Given the description of an element on the screen output the (x, y) to click on. 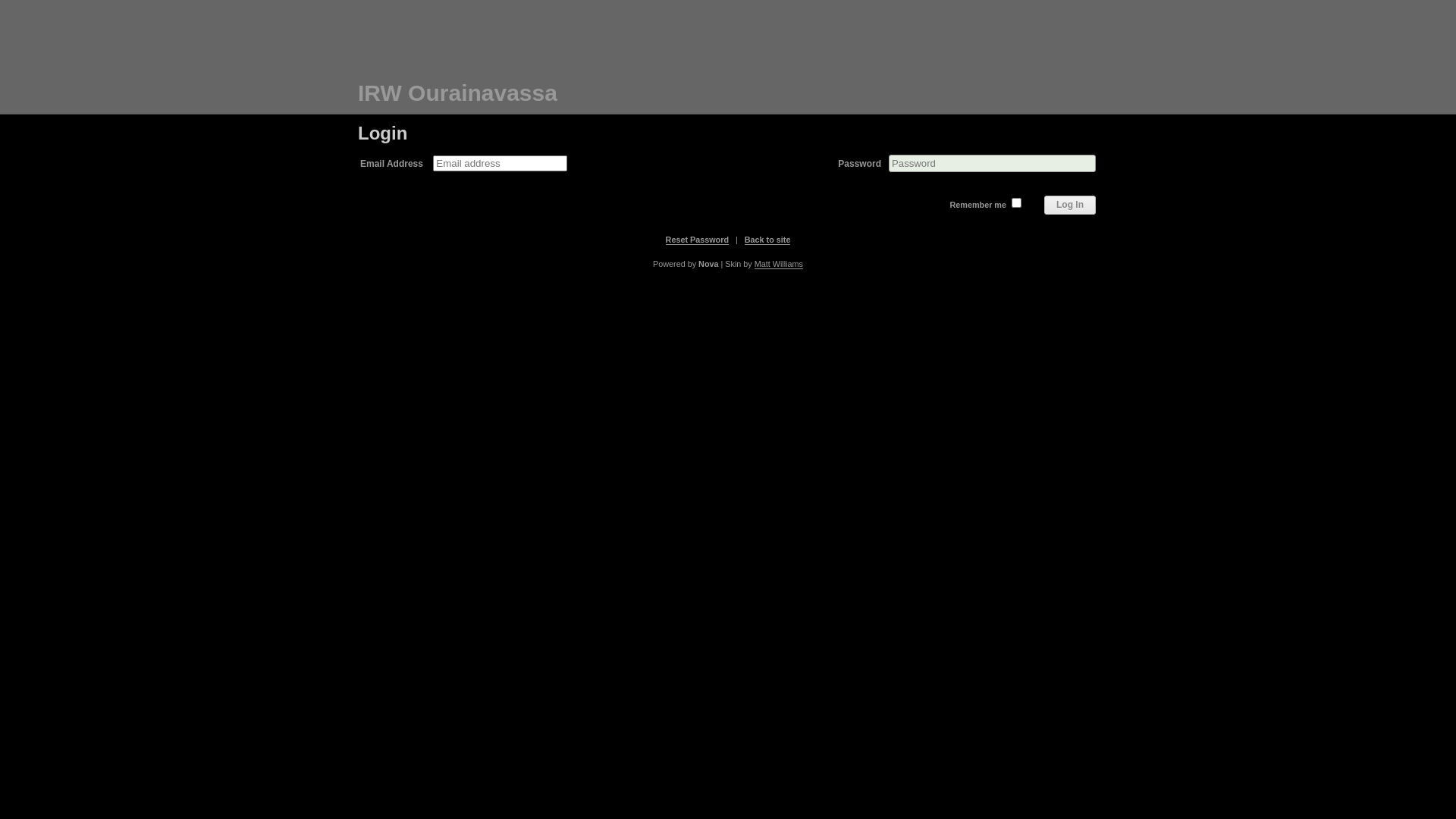
Reset Password Element type: text (696, 239)
Matt Williams Element type: text (778, 264)
Log In Element type: text (1069, 204)
Back to site Element type: text (767, 239)
